Given the description of an element on the screen output the (x, y) to click on. 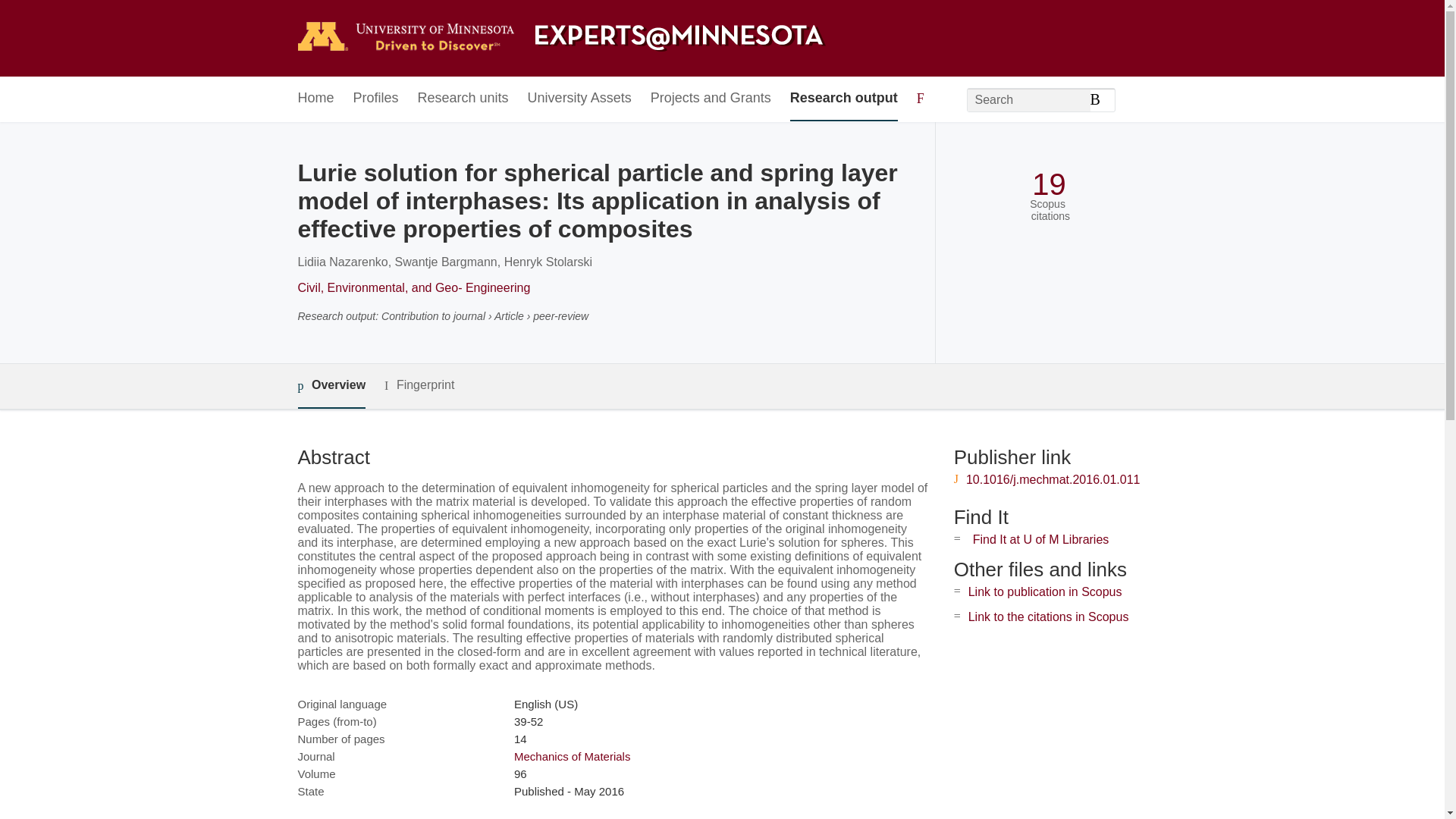
Research output (844, 98)
Projects and Grants (710, 98)
Fingerprint (419, 385)
Profiles (375, 98)
Overview (331, 385)
Civil, Environmental, and Geo- Engineering (413, 287)
University Assets (579, 98)
Find It at U of M Libraries (1040, 539)
Link to the citations in Scopus (1048, 616)
Research units (462, 98)
Link to publication in Scopus (1045, 591)
19 (1048, 184)
Mechanics of Materials (571, 756)
